Given the description of an element on the screen output the (x, y) to click on. 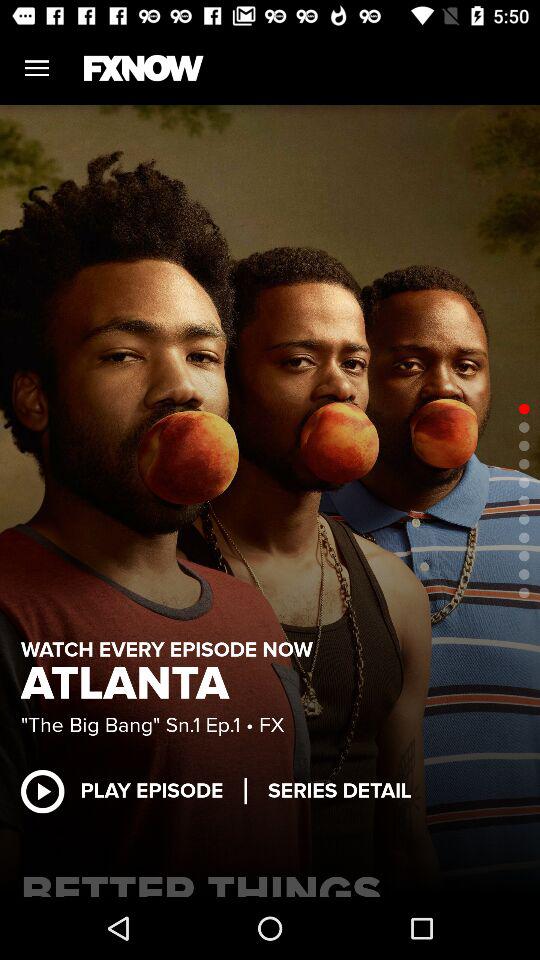
turn off item above the big bang icon (131, 683)
